Given the description of an element on the screen output the (x, y) to click on. 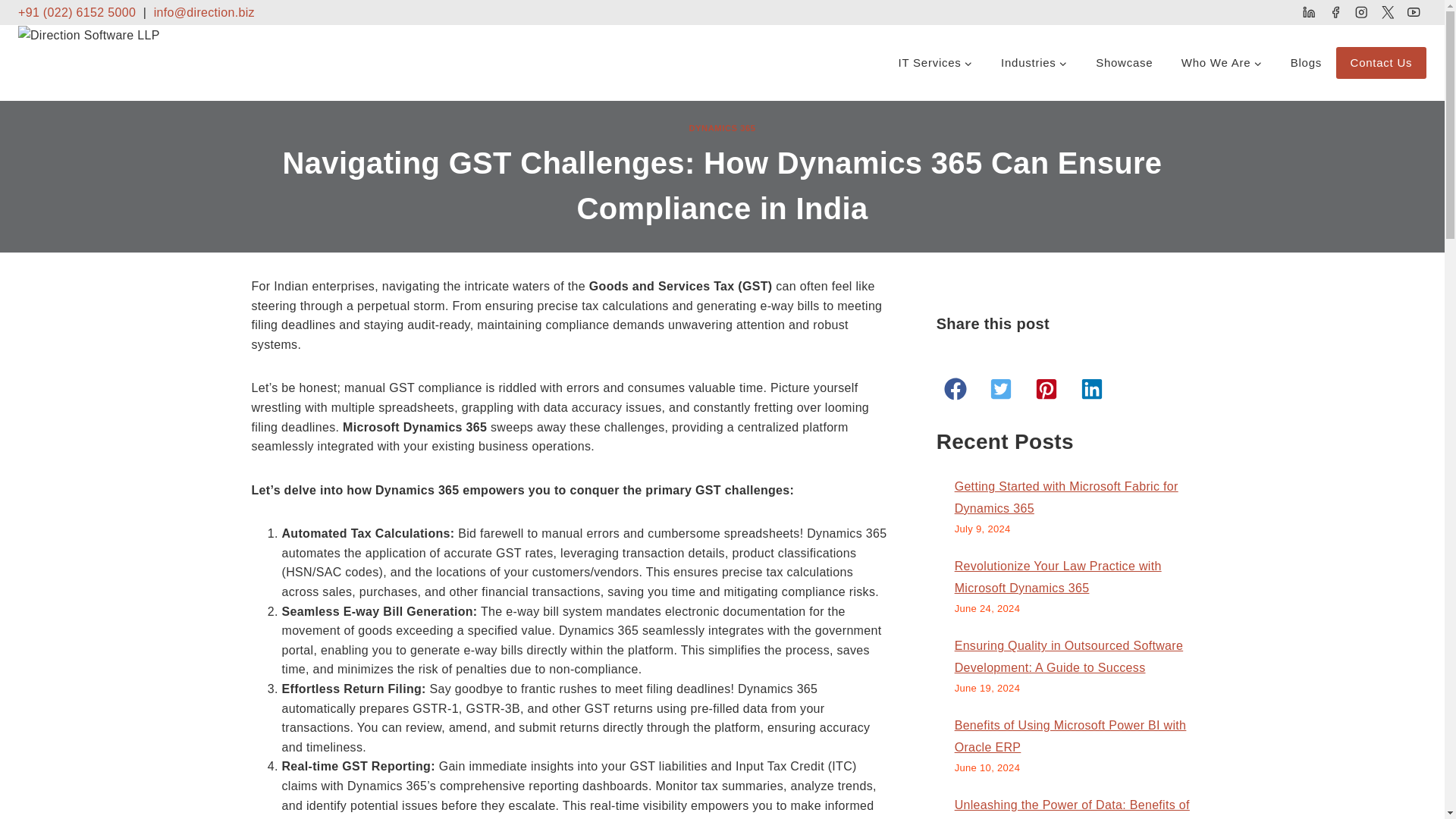
Industries (1034, 62)
Showcase (1124, 62)
IT Services (935, 62)
Who We Are (1221, 62)
